Given the description of an element on the screen output the (x, y) to click on. 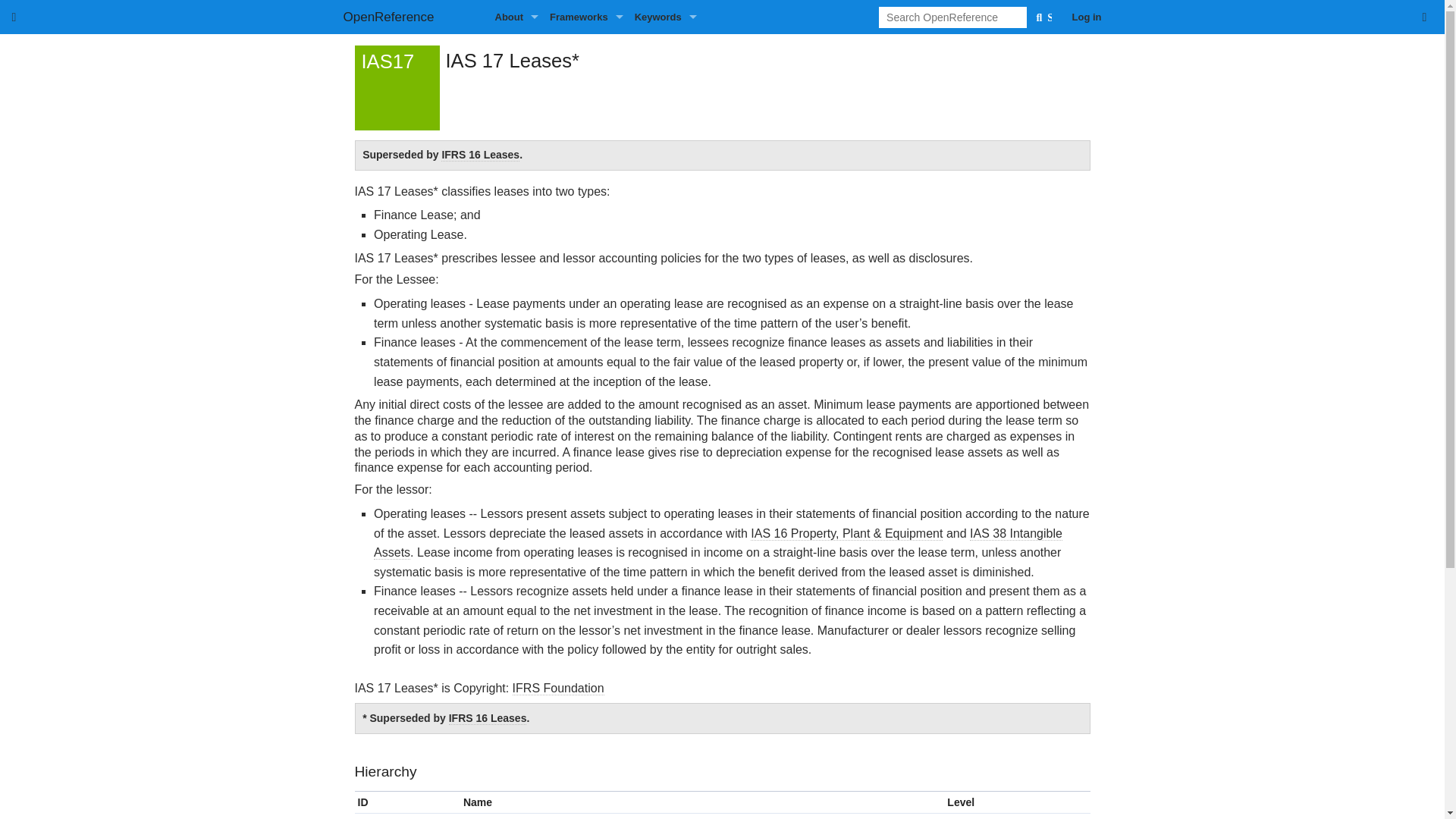
Frameworks (592, 17)
OpenReference (418, 17)
Keywords (670, 17)
About (522, 17)
